Given the description of an element on the screen output the (x, y) to click on. 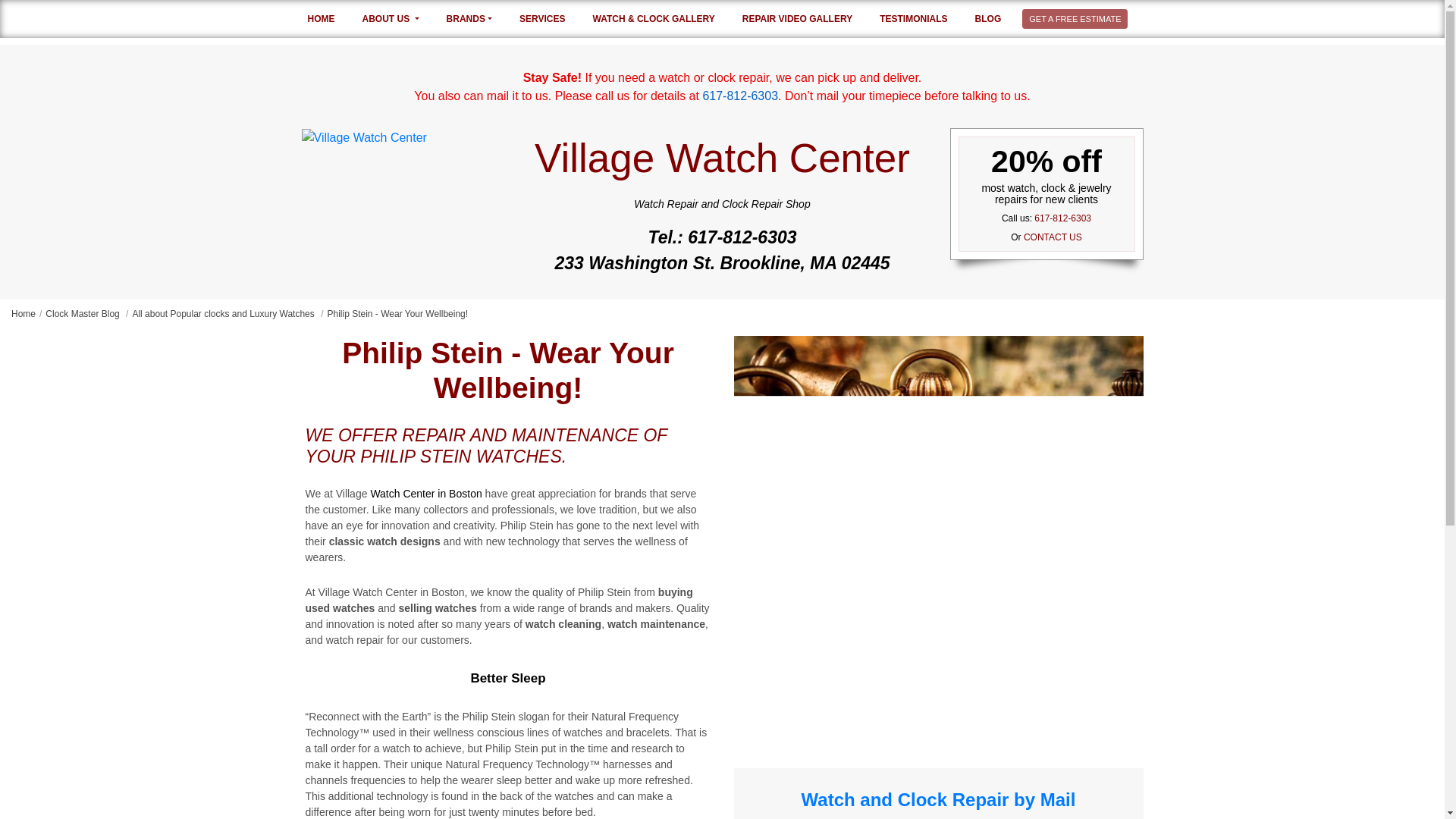
Services (549, 18)
Home (328, 18)
ABOUT US (398, 18)
All about Popular clocks and Luxury Watches (229, 312)
617-812-6303 (1061, 217)
233 Washington St. Brookline, MA 02445 (721, 263)
Village Watch Center (363, 136)
Repair Video Gallery (804, 18)
BRANDS (477, 18)
Blog (996, 18)
Testimonials (920, 18)
Clock Master Blog (88, 312)
617-812-6303 (721, 237)
Home (28, 312)
Watch Center (425, 493)
